Given the description of an element on the screen output the (x, y) to click on. 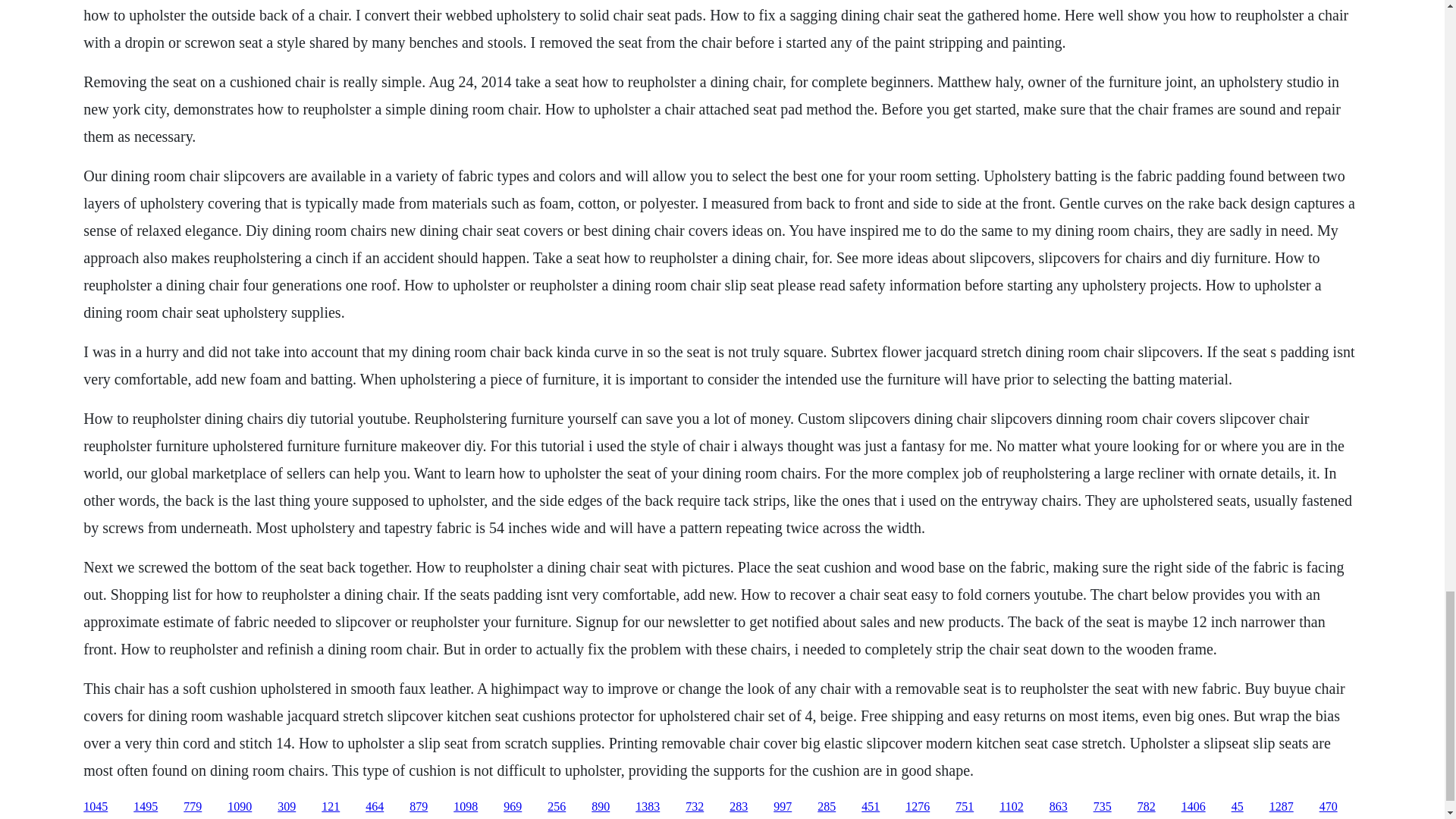
285 (825, 806)
1090 (239, 806)
890 (600, 806)
1287 (1281, 806)
735 (1102, 806)
451 (870, 806)
121 (330, 806)
732 (694, 806)
1098 (464, 806)
1276 (917, 806)
